Given the description of an element on the screen output the (x, y) to click on. 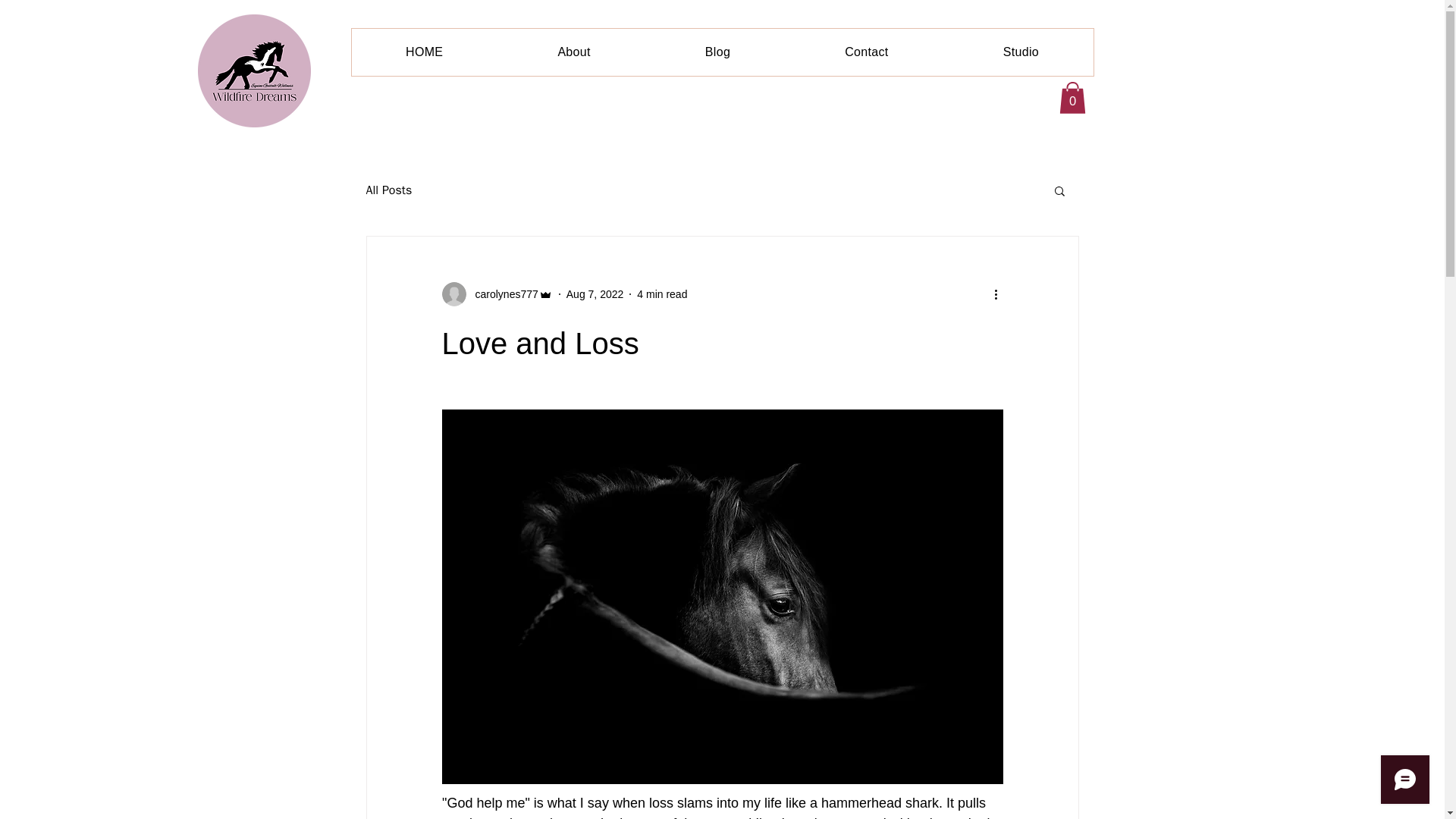
Studio (1021, 52)
All Posts (388, 189)
Contact (866, 52)
4 min read (662, 294)
Blog (717, 52)
carolynes777 (496, 293)
Aug 7, 2022 (595, 294)
About (574, 52)
HOME (424, 52)
carolynes777 (501, 294)
